Given the description of an element on the screen output the (x, y) to click on. 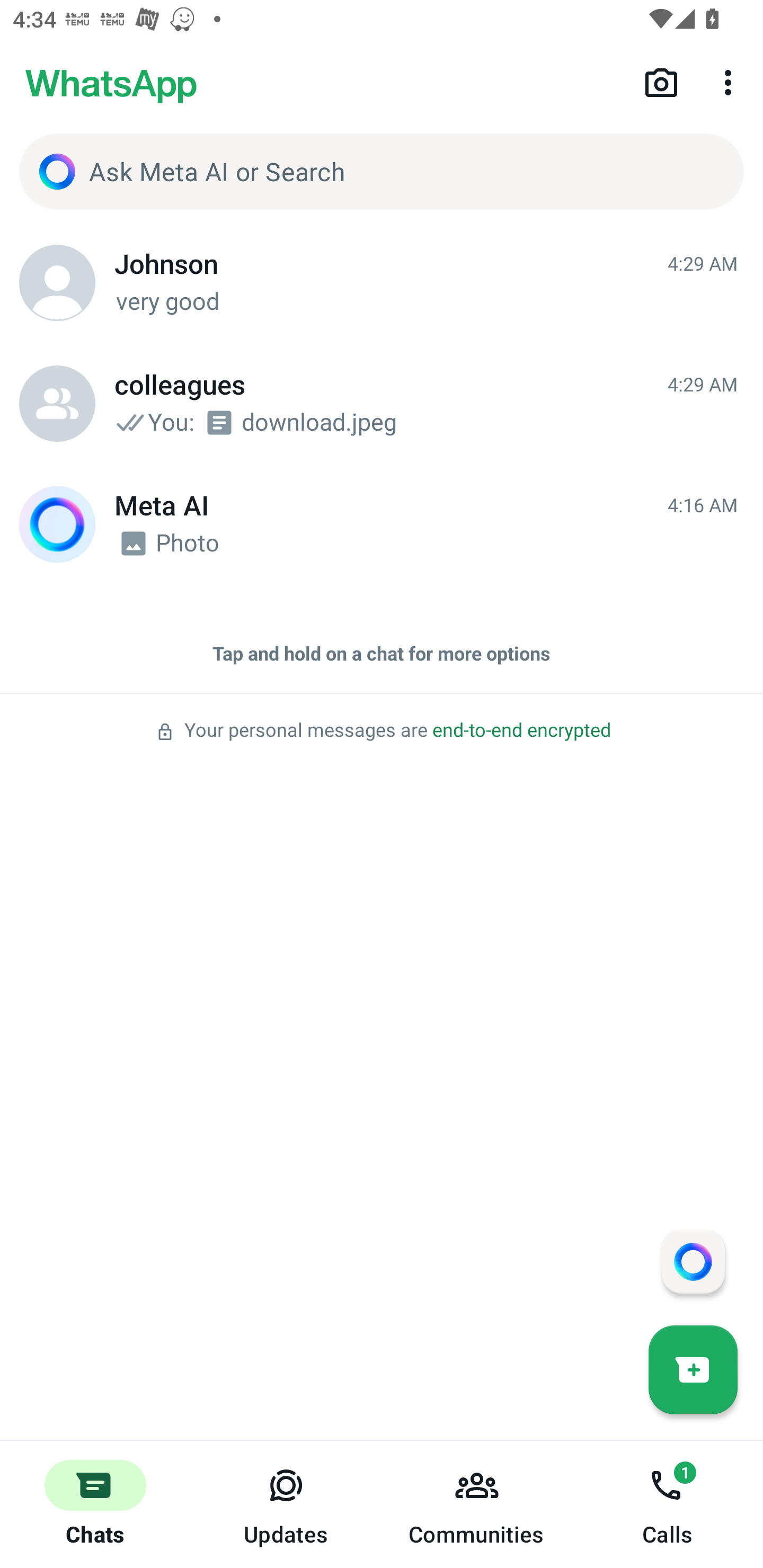
Camera (661, 81)
More options (731, 81)
Johnson Johnson 4:29 AM 4:29 AM very good (381, 282)
Johnson (57, 282)
colleagues (57, 403)
Meta AI Meta AI 4:16 AM 4:16 AM Photo (381, 524)
Meta AI (57, 524)
end-to-end encrypted (521, 730)
Message your assistant (692, 1261)
New chat (692, 1369)
Updates (285, 1504)
Communities (476, 1504)
Calls, 1 new notification Calls (667, 1504)
